Given the description of an element on the screen output the (x, y) to click on. 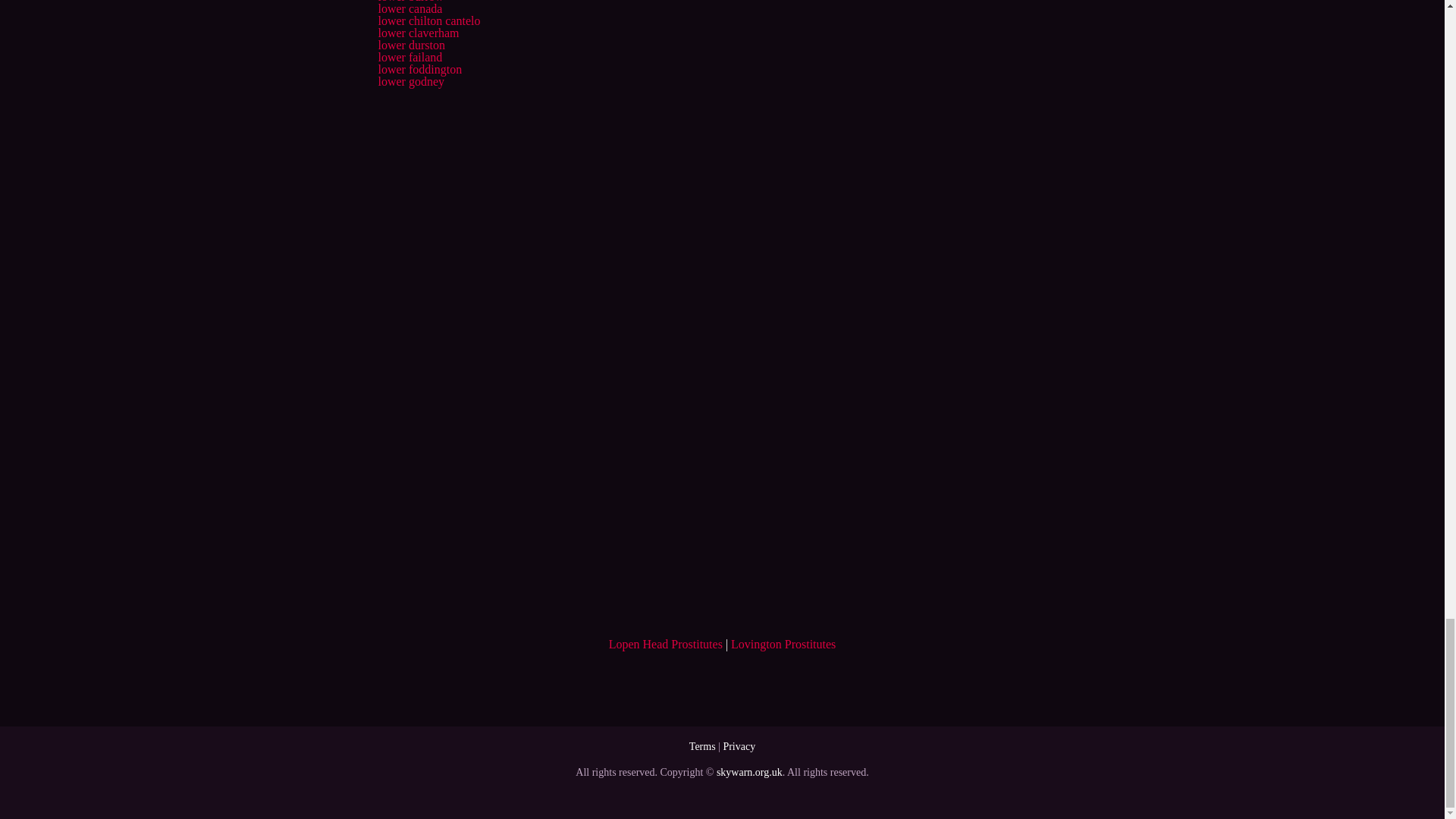
Terms (702, 746)
Terms (702, 746)
lower failand (409, 56)
lower godney (410, 81)
Privacy (738, 746)
Privacy (738, 746)
skywarn.org.uk (749, 772)
Lopen Head Prostitutes (665, 644)
lower claverham (417, 32)
Lovington Prostitutes (782, 644)
lower durston (410, 44)
lower burrow (410, 1)
lower canada (409, 8)
lower chilton cantelo (428, 20)
lower foddington (419, 69)
